Given the description of an element on the screen output the (x, y) to click on. 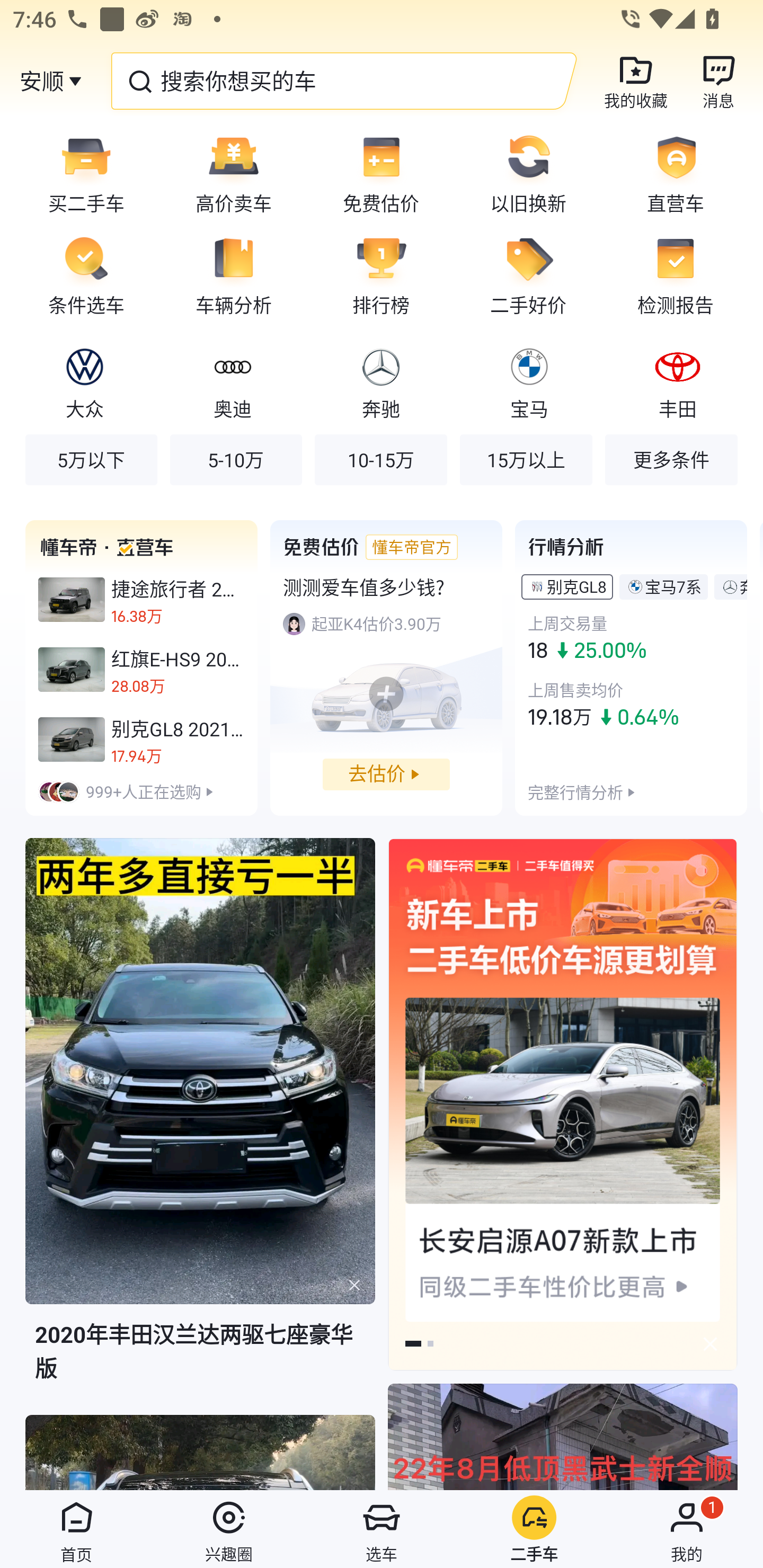
我的收藏 (635, 80)
安顺 (41, 80)
买二手车 (80, 172)
高价卖车 (233, 172)
免费估价 (380, 172)
以旧换新 (528, 172)
直营车 (682, 172)
条件选车 (80, 274)
车辆分析 (233, 274)
排行榜 (380, 274)
二手好价 (528, 274)
检测报告 (682, 274)
大众 (84, 381)
奥迪 (232, 381)
奔驰 (380, 381)
宝马 (529, 381)
丰田 (677, 381)
5万以下 (91, 459)
5-10万 (236, 459)
10-15万 (380, 459)
15万以上 (526, 459)
更多条件 (671, 459)
测测爱车值多少钱? 起亚K4估价3.90万 去估价  (386, 667)
捷途旅行者 2023款 2.0TD 四驱 穿越PRO+ 16.38万 (141, 599)
别克GL8 (576, 585)
宝马7系 (672, 585)
红旗E-HS9 2020款 460km 旗享版 六座 28.08万 (141, 669)
别克GL8 2021款 陆上公务舱 652T 豪华型 17.94万 (141, 739)
999+人正在选购 (141, 791)
完整行情分析 (575, 791)
2020年丰田汉兰达两驱七座豪华版 (200, 1125)
 首页 (76, 1528)
 兴趣圈 (228, 1528)
 选车 (381, 1528)
二手车 (533, 1528)
 我的 (686, 1528)
